Given the description of an element on the screen output the (x, y) to click on. 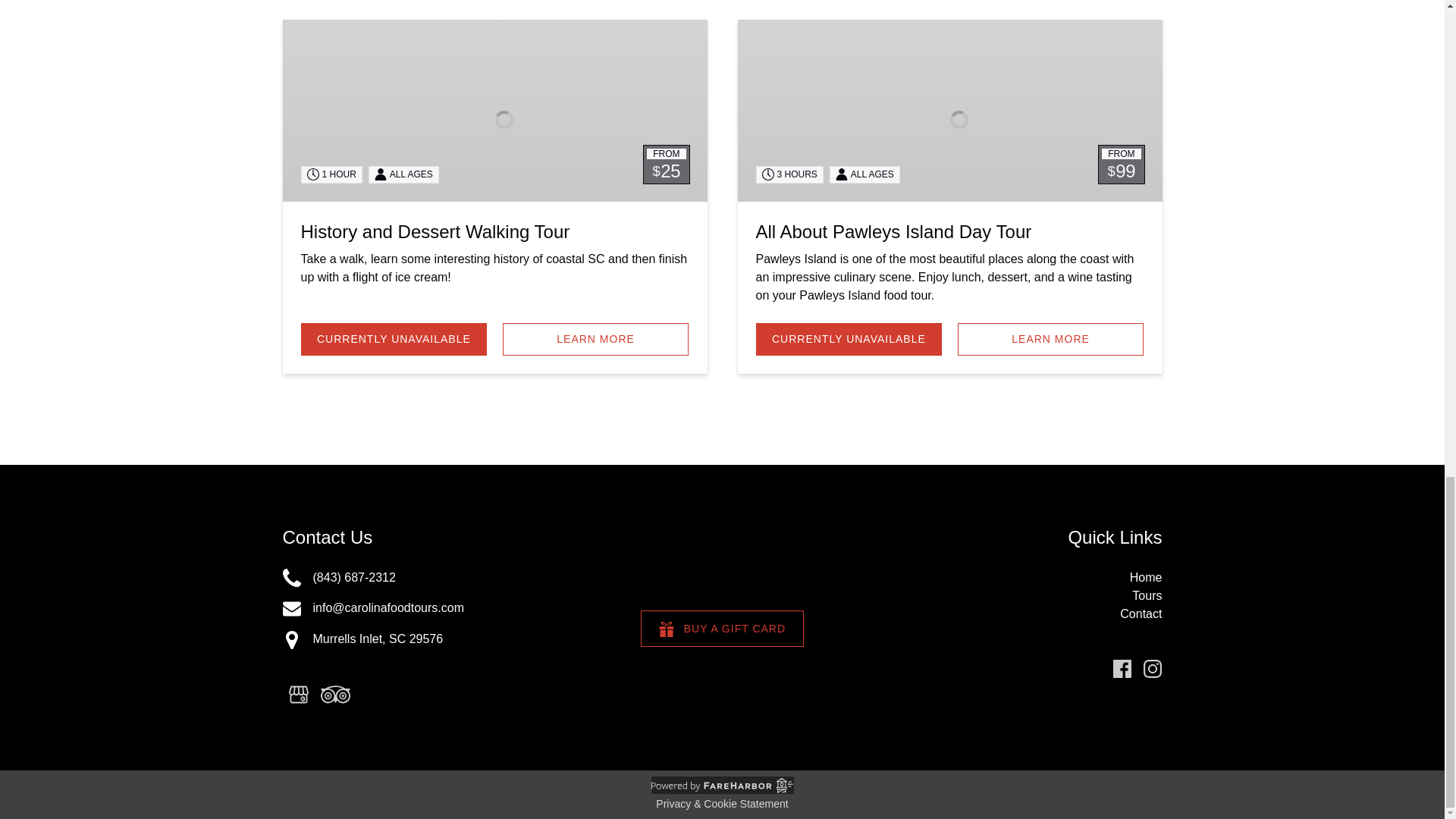
CURRENTLY UNAVAILABLE (848, 339)
Map Marker (290, 639)
activity link (494, 110)
History and Dessert Walking Tour (418, 639)
GIFT (434, 231)
All About Pawleys Island Day Tour (666, 629)
Envelope (892, 231)
Phone (290, 608)
activity link (290, 577)
